Given the description of an element on the screen output the (x, y) to click on. 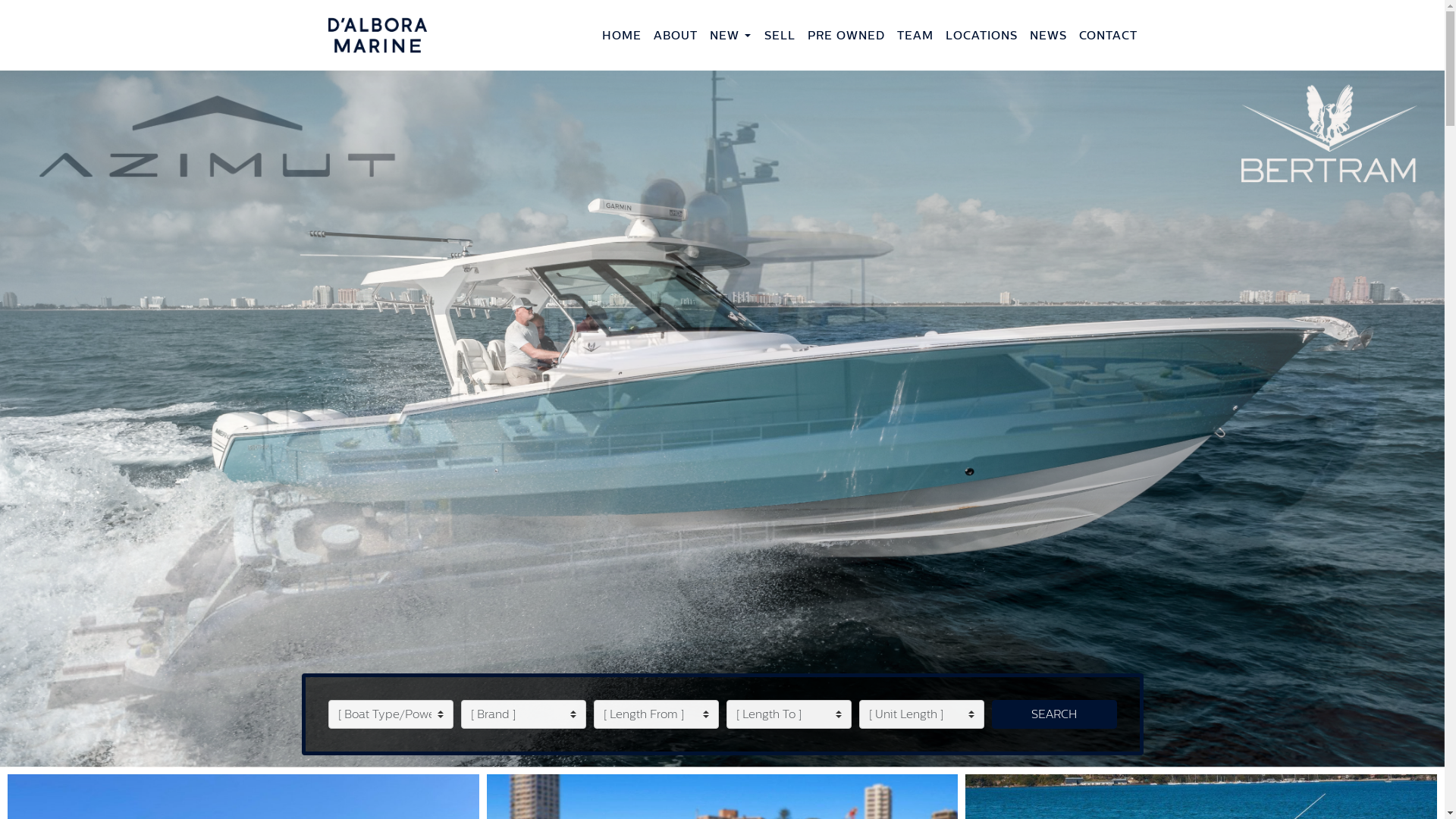
SELL Element type: text (779, 35)
NEW Element type: text (724, 35)
TEAM Element type: text (914, 35)
PRE OWNED Element type: text (845, 35)
HOME Element type: text (621, 35)
LOCATIONS Element type: text (980, 35)
NEWS Element type: text (1048, 35)
CONTACT Element type: text (1107, 35)
SEARCH Element type: text (1054, 713)
ABOUT Element type: text (675, 35)
